Given the description of an element on the screen output the (x, y) to click on. 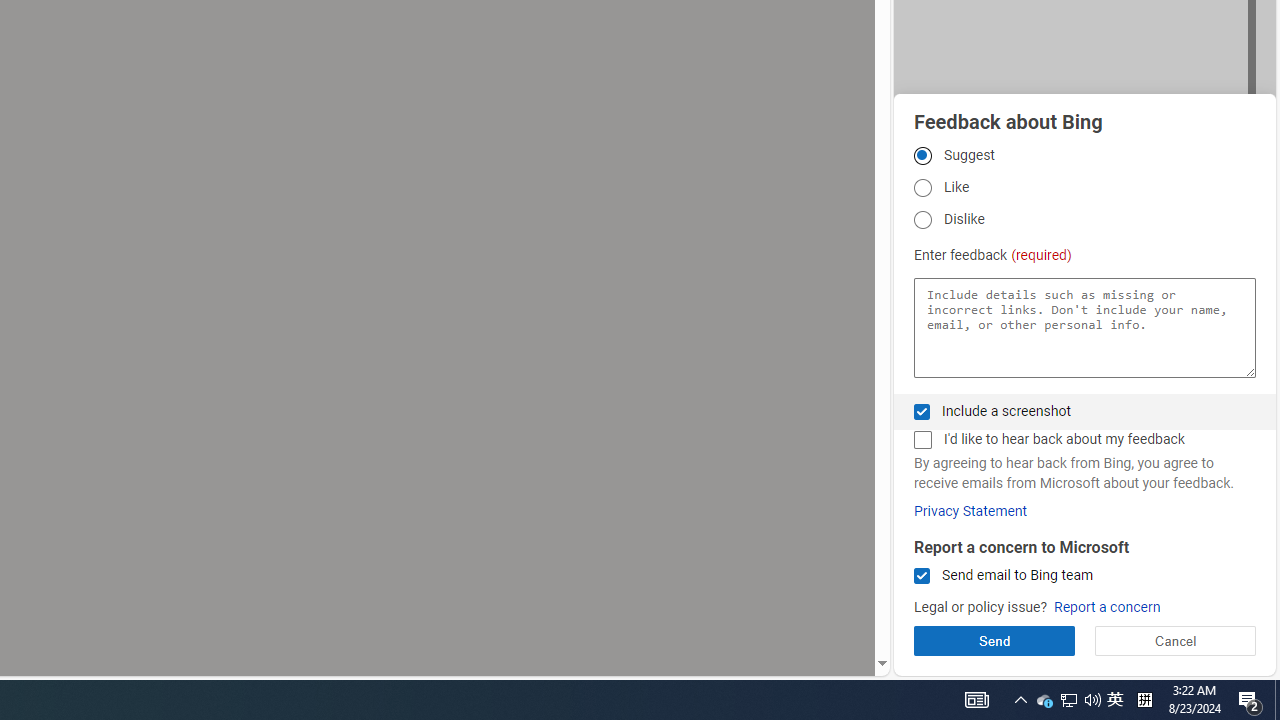
Include a screenshot (921, 411)
Report a concern (1106, 607)
Cancel (1174, 640)
I'd like to hear back about my feedback (922, 440)
Suggest (922, 155)
Send (994, 640)
Send email to Bing team (921, 575)
Privacy Statement (970, 511)
